Given the description of an element on the screen output the (x, y) to click on. 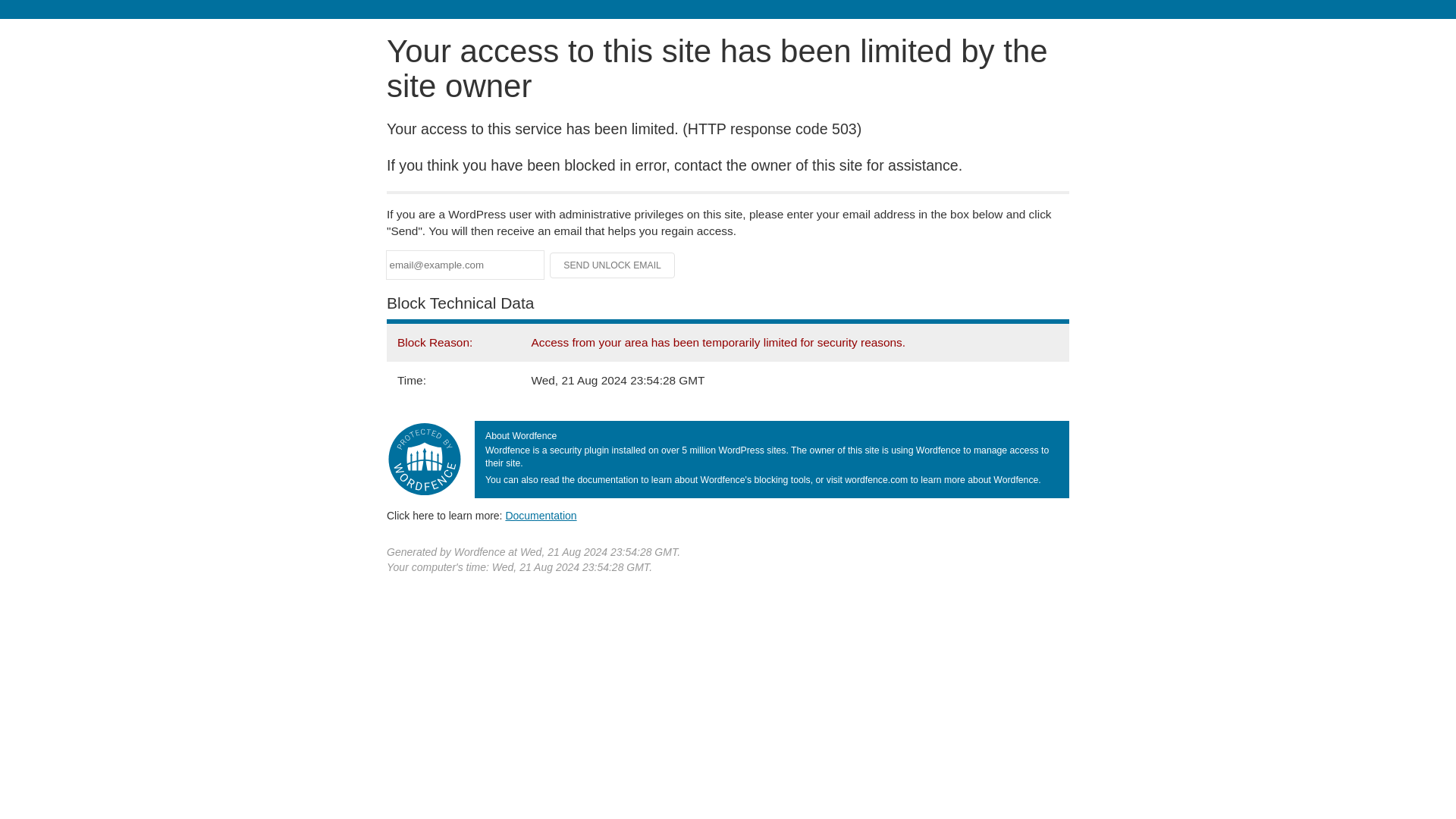
Send Unlock Email (612, 265)
Documentation (540, 515)
Send Unlock Email (612, 265)
